Given the description of an element on the screen output the (x, y) to click on. 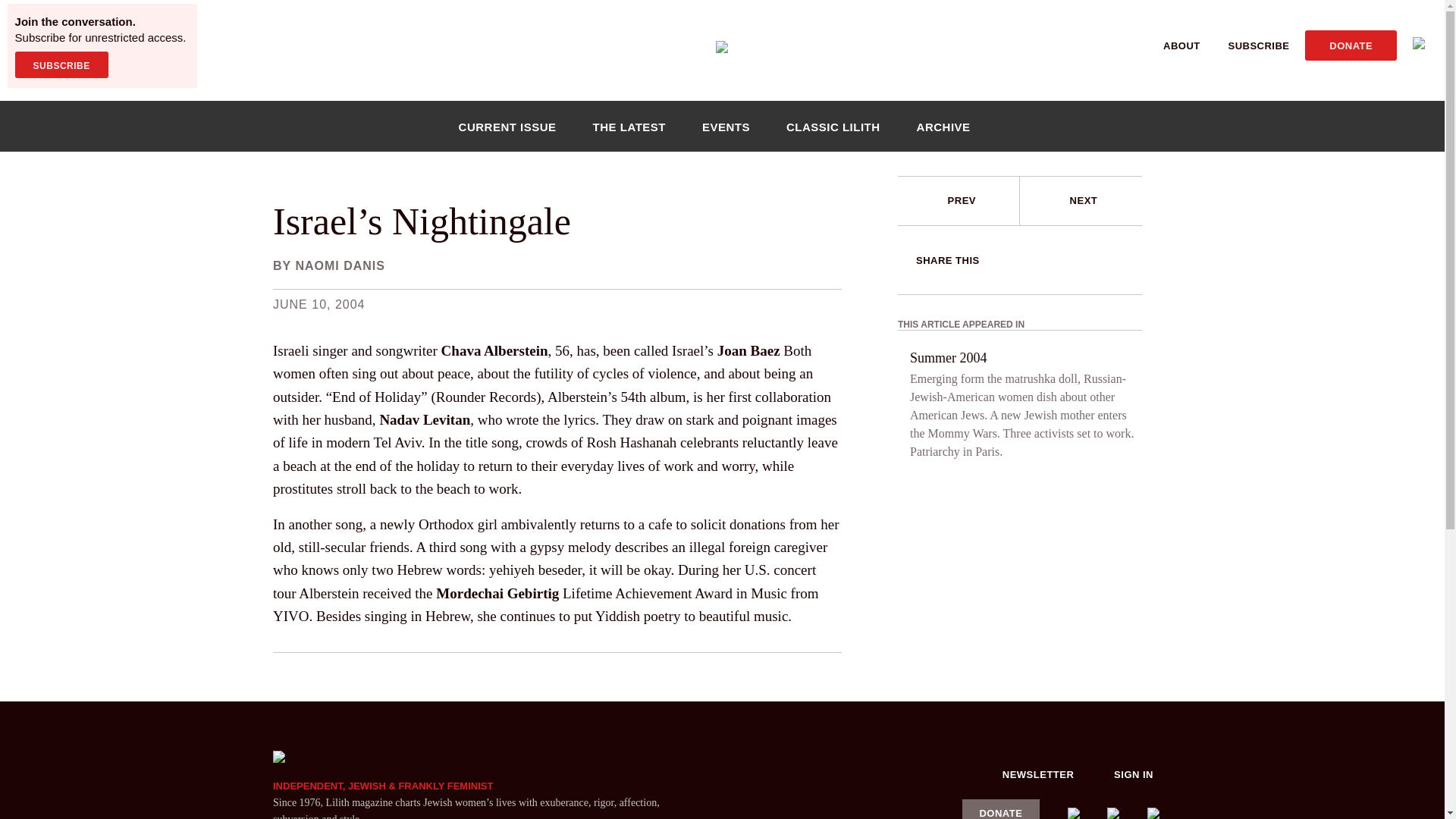
EVENTS (726, 126)
DONATE (1350, 45)
Summer 2004 (948, 357)
SUBSCRIBE (60, 64)
PREV (961, 200)
DONATE (1000, 809)
NEXT (1083, 200)
THE LATEST (628, 126)
CLASSIC LILITH (833, 126)
SIGN IN (1134, 774)
